Given the description of an element on the screen output the (x, y) to click on. 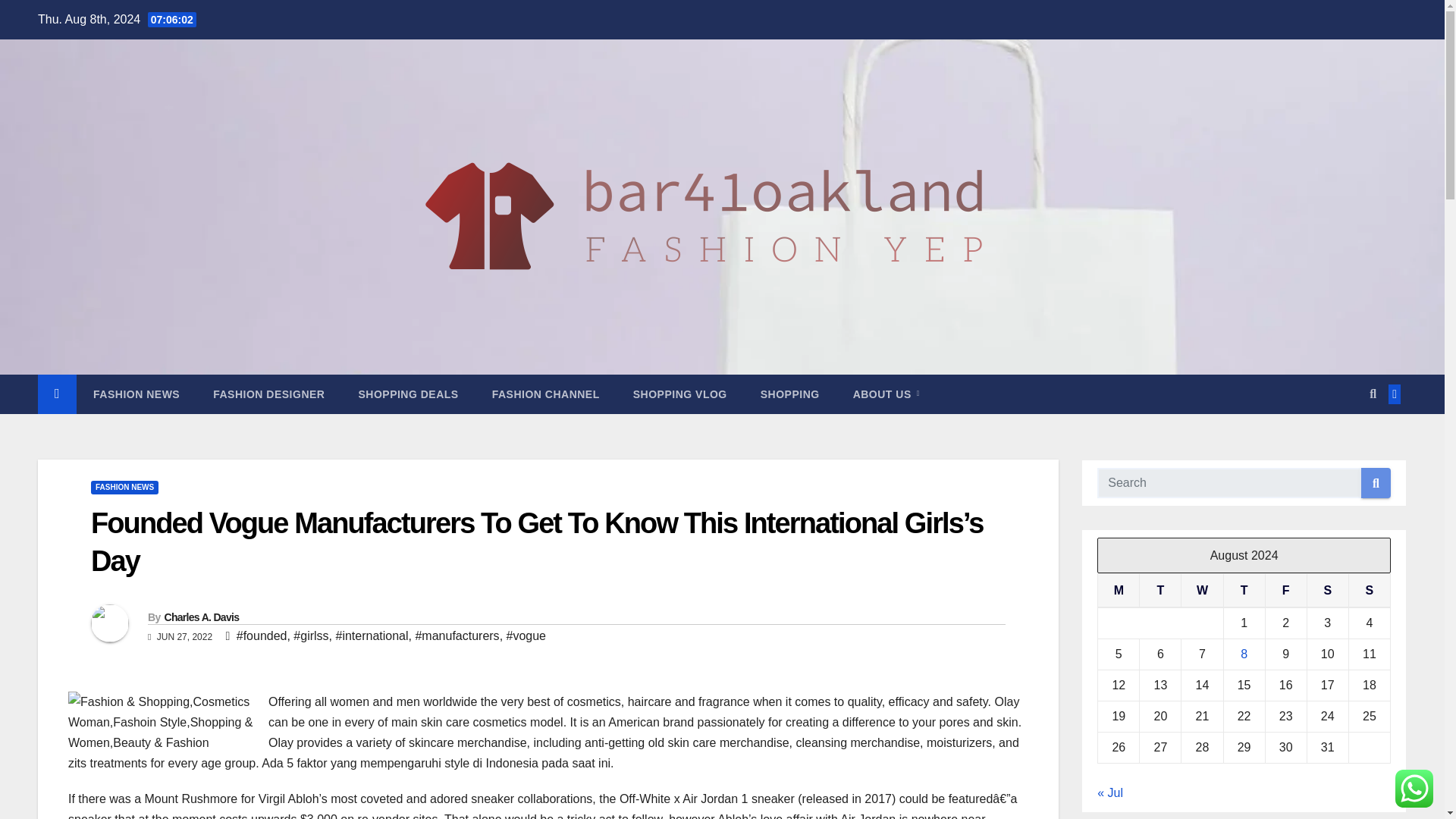
SHOPPING (789, 394)
About Us (885, 394)
FASHION CHANNEL (545, 394)
Fashion Designer (268, 394)
Fashion Channel (545, 394)
Shopping (789, 394)
FASHION NEWS (124, 487)
SHOPPING DEALS (407, 394)
Charles A. Davis (200, 616)
ABOUT US (885, 394)
